Given the description of an element on the screen output the (x, y) to click on. 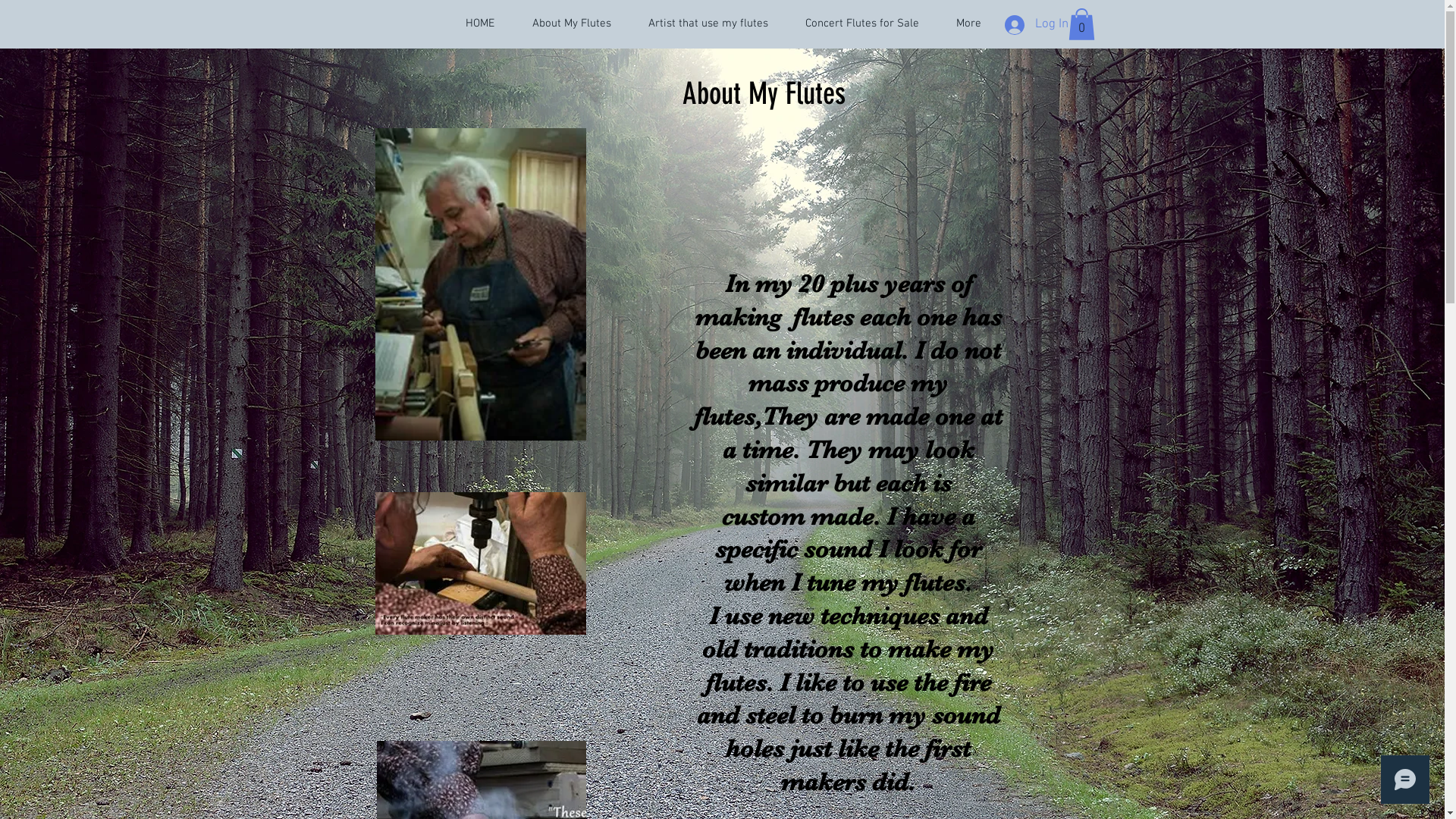
Concert Flutes for Sale Element type: text (862, 23)
Log In Element type: text (1024, 24)
HOME Element type: text (478, 23)
0 Element type: text (1080, 24)
Artist that use my flutes Element type: text (707, 23)
About My Flutes Element type: text (570, 23)
